Given the description of an element on the screen output the (x, y) to click on. 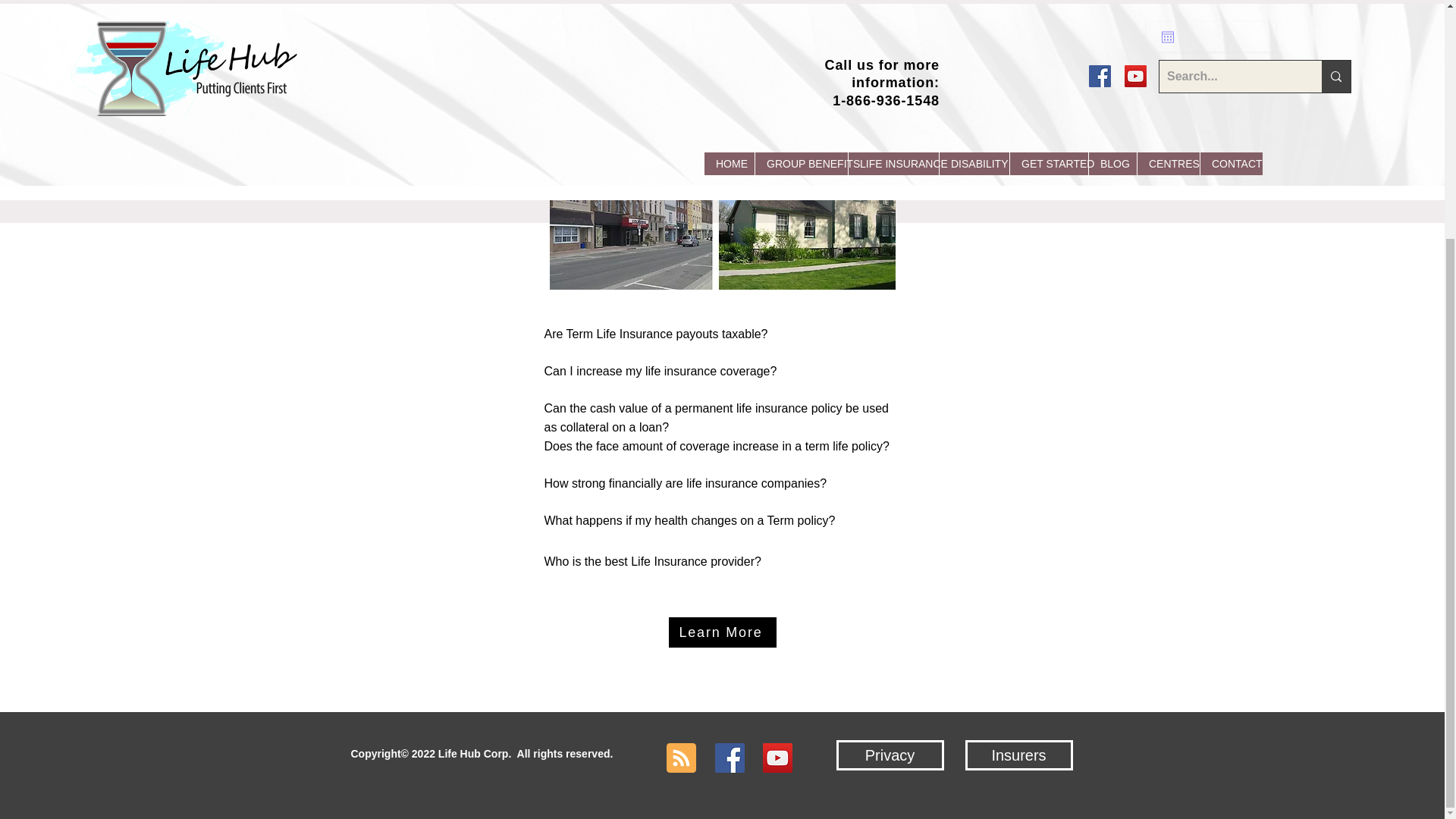
Brantford-tn.jpg (721, 192)
Insurers (1017, 755)
Learn More (722, 632)
Privacy (889, 755)
